Given the description of an element on the screen output the (x, y) to click on. 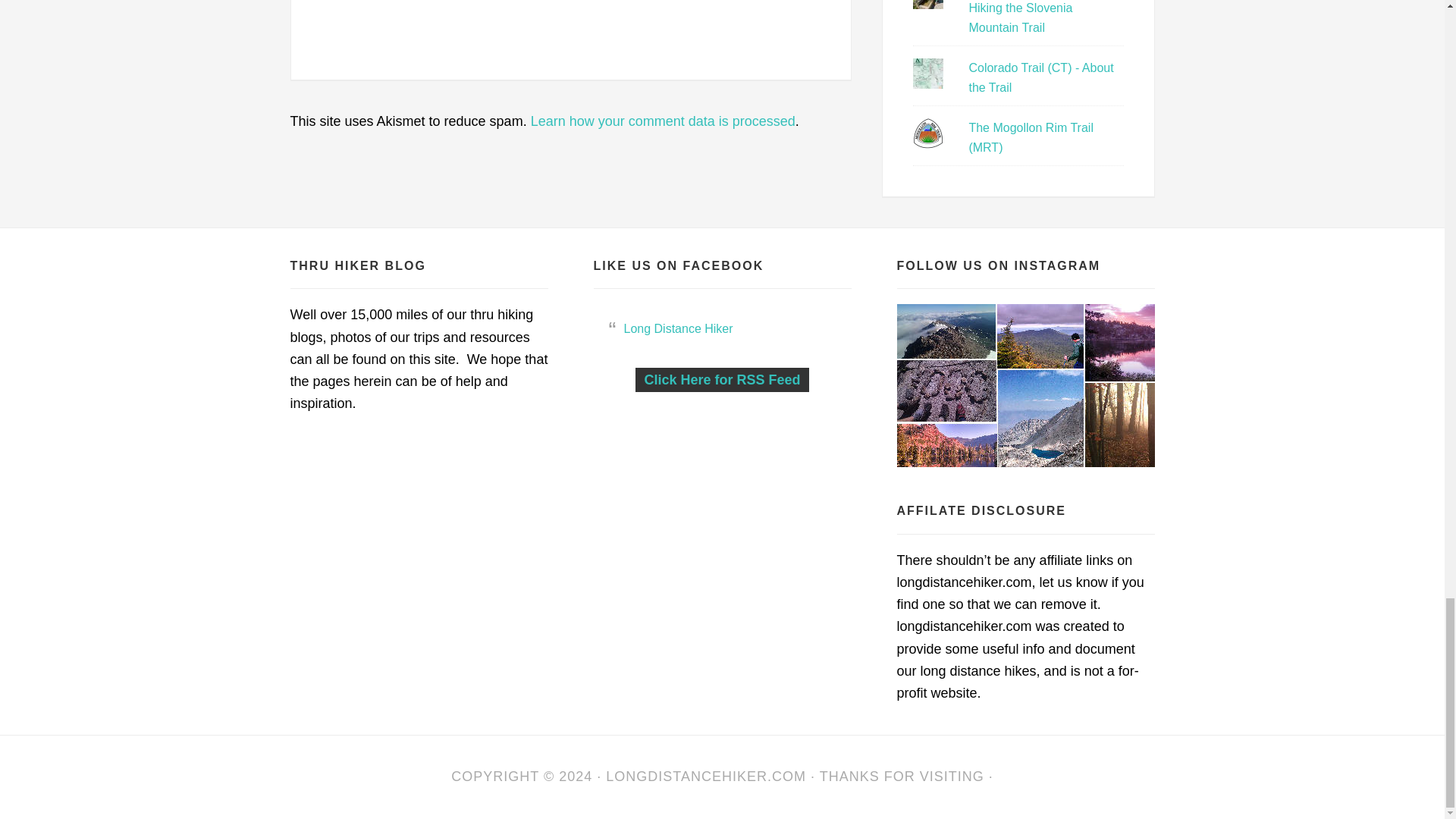
Thoughts and Advice for Hiking the Slovenia Mountain Trail (1033, 17)
Thoughts and Advice for Hiking the Slovenia Mountain Trail (1033, 17)
Long Distance Hiker (705, 776)
Learn how your comment data is processed (662, 120)
Comment Form (571, 30)
